Given the description of an element on the screen output the (x, y) to click on. 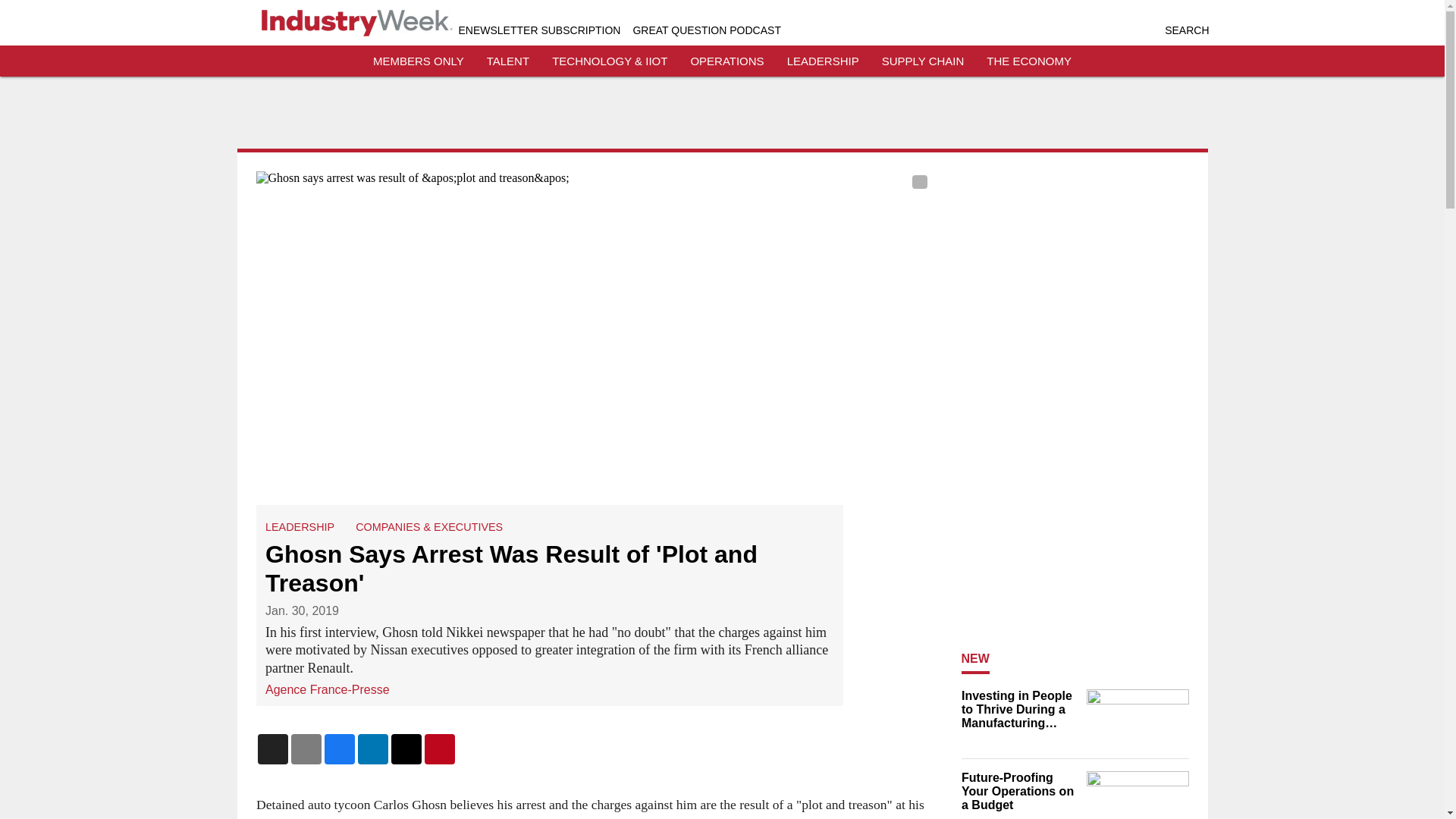
LEADERSHIP (823, 60)
SEARCH (1186, 30)
GREAT QUESTION PODCAST (705, 30)
OPERATIONS (726, 60)
LEADERSHIP (299, 526)
ENEWSLETTER SUBSCRIPTION (539, 30)
Future-Proofing Your Operations on a Budget (1019, 791)
Agence France-Presse (327, 689)
SUPPLY CHAIN (922, 60)
THE ECONOMY (1029, 60)
MEMBERS ONLY (418, 60)
TALENT (507, 60)
